Given the description of an element on the screen output the (x, y) to click on. 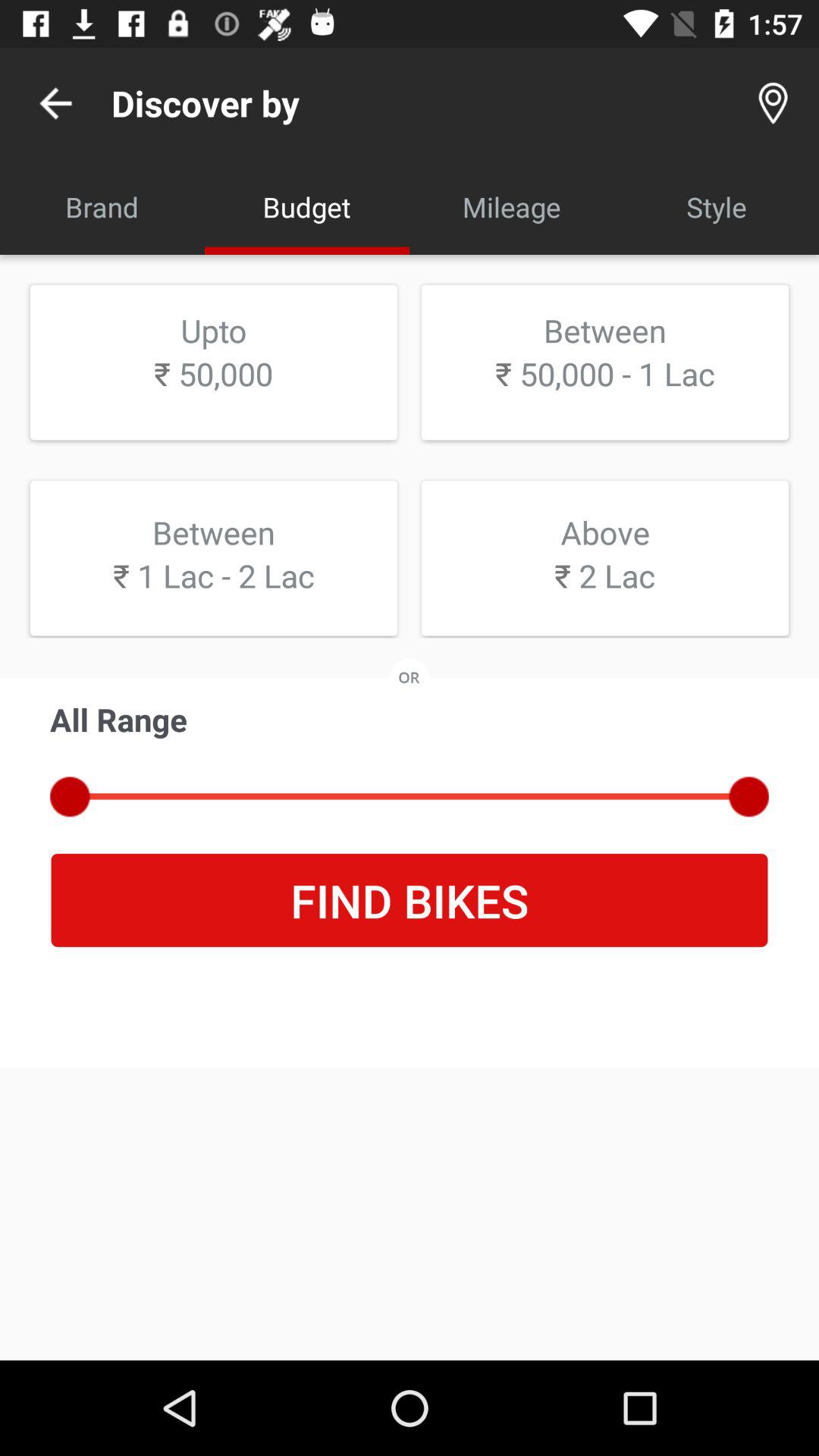
launch icon next to the discover by item (55, 103)
